Given the description of an element on the screen output the (x, y) to click on. 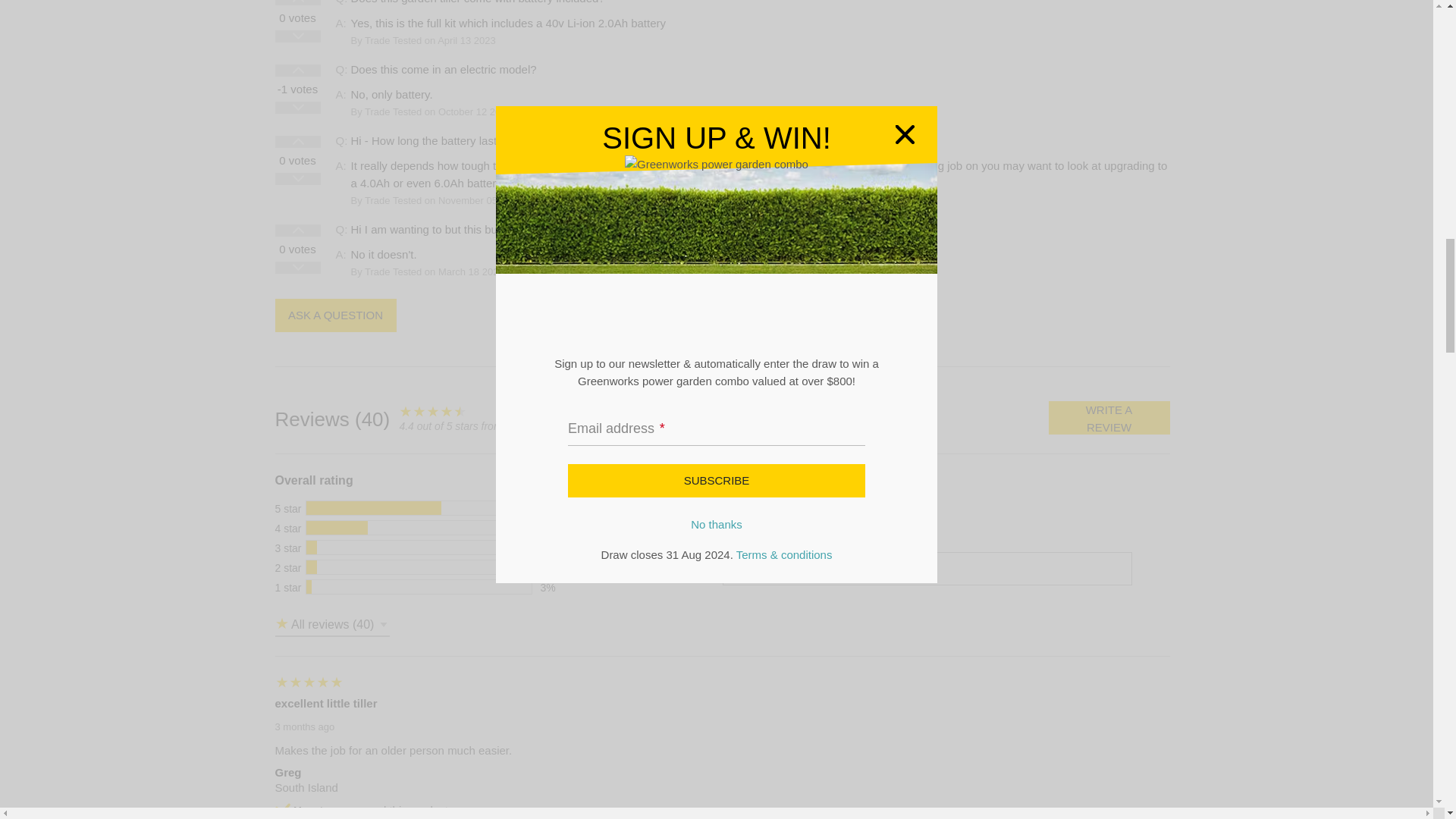
ASK A QUESTION (335, 315)
WRITE A REVIEW (1108, 417)
